Given the description of an element on the screen output the (x, y) to click on. 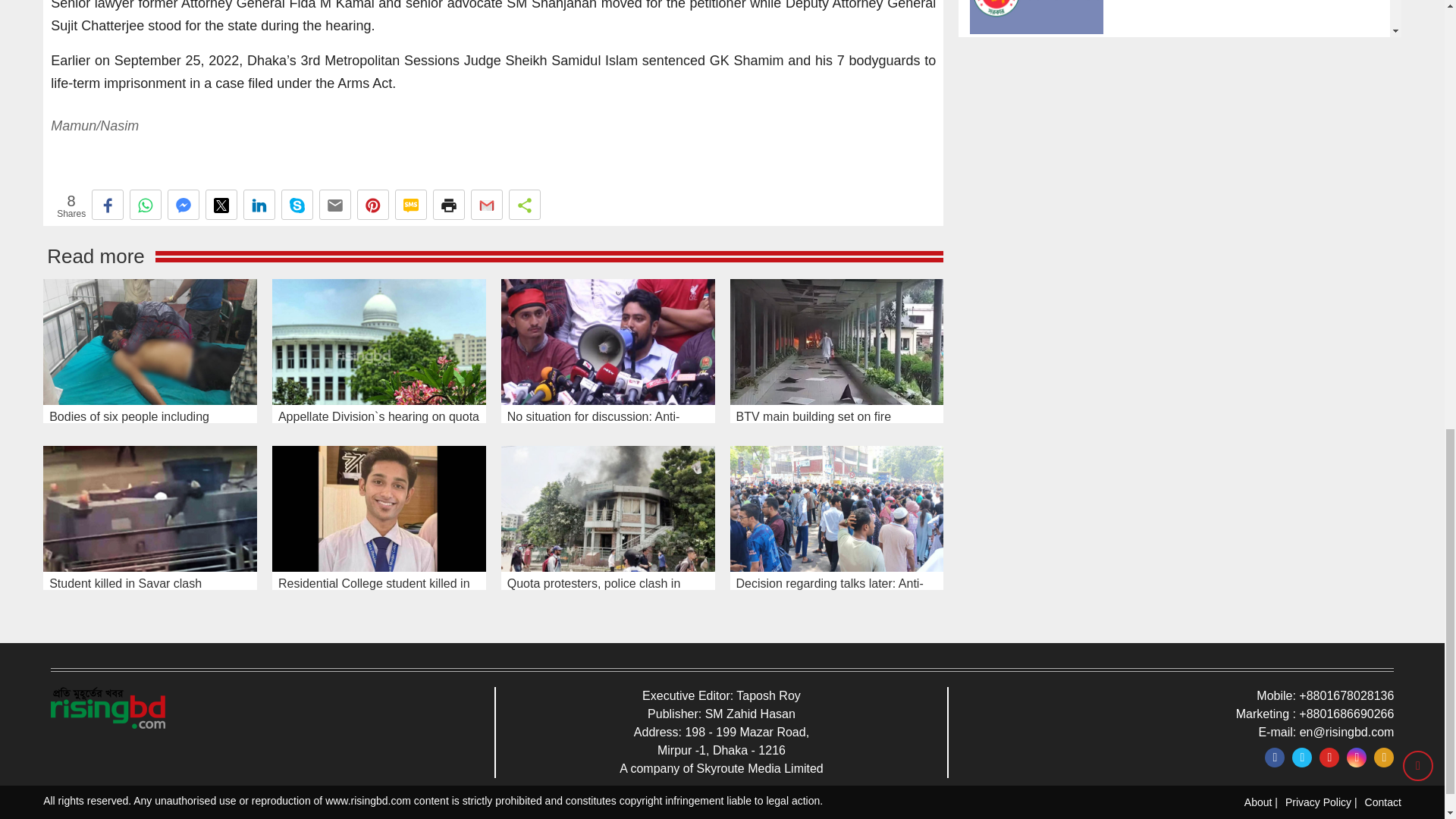
Bodies of six people including journalist at DMCH (150, 341)
Residential College student killed in clash with police (379, 507)
BTV main building set on fire (836, 341)
Student killed in Savar clash (150, 507)
